Given the description of an element on the screen output the (x, y) to click on. 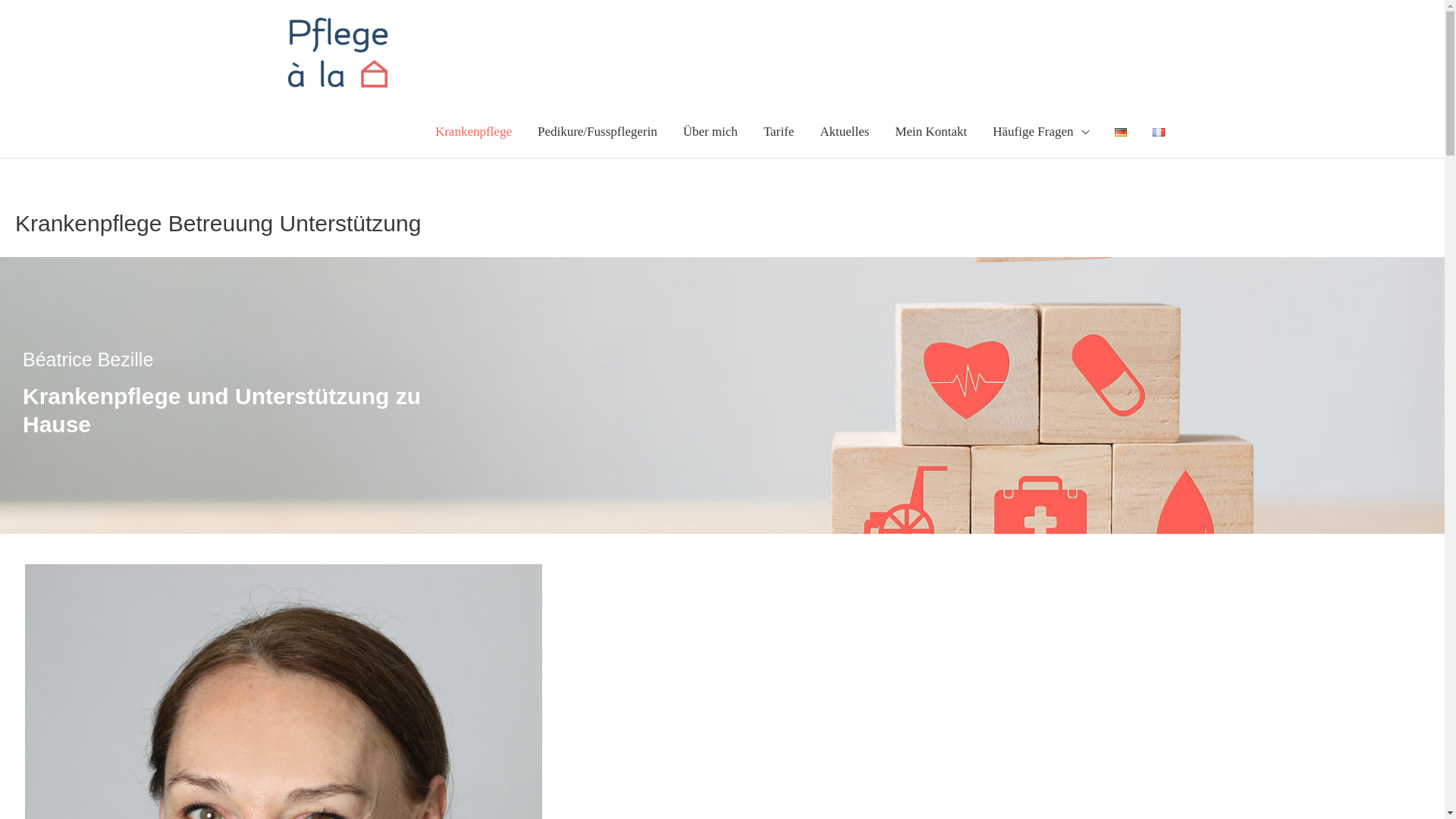
Mein Kontakt Element type: text (930, 131)
Aktuelles Element type: text (843, 131)
Tarife Element type: text (778, 131)
Krankenpflege Element type: text (473, 131)
Pedikure/Fusspflegerin Element type: text (597, 131)
